Given the description of an element on the screen output the (x, y) to click on. 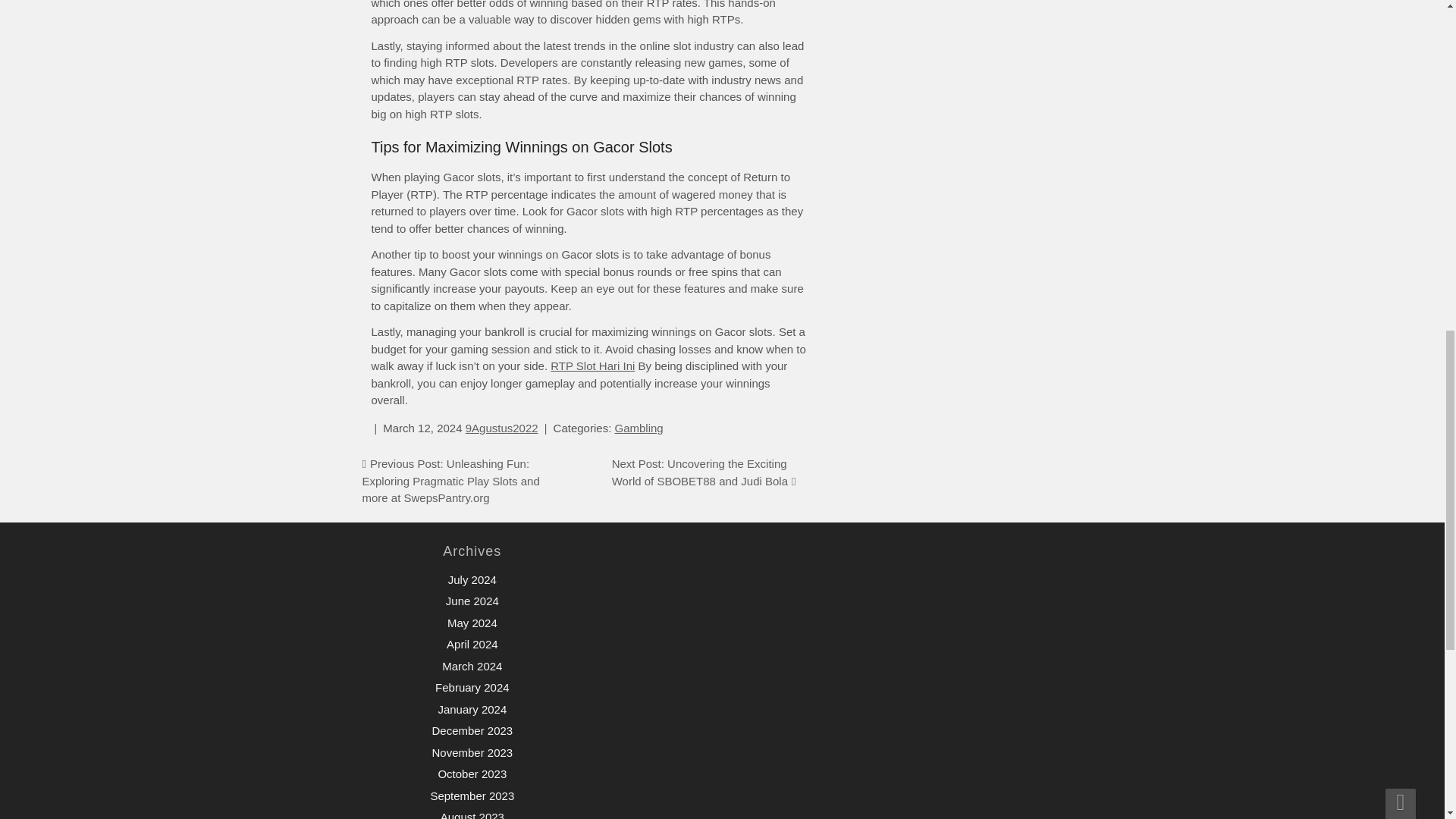
May 2024 (471, 622)
August 2023 (472, 814)
March 2024 (472, 666)
RTP Slot Hari Ini (592, 365)
Gambling (638, 427)
June 2024 (472, 600)
Posts by 9Agustus2022 (501, 427)
November 2023 (471, 752)
December 2023 (471, 730)
July 2024 (472, 579)
October 2023 (472, 773)
February 2024 (472, 686)
January 2024 (472, 708)
